Given the description of an element on the screen output the (x, y) to click on. 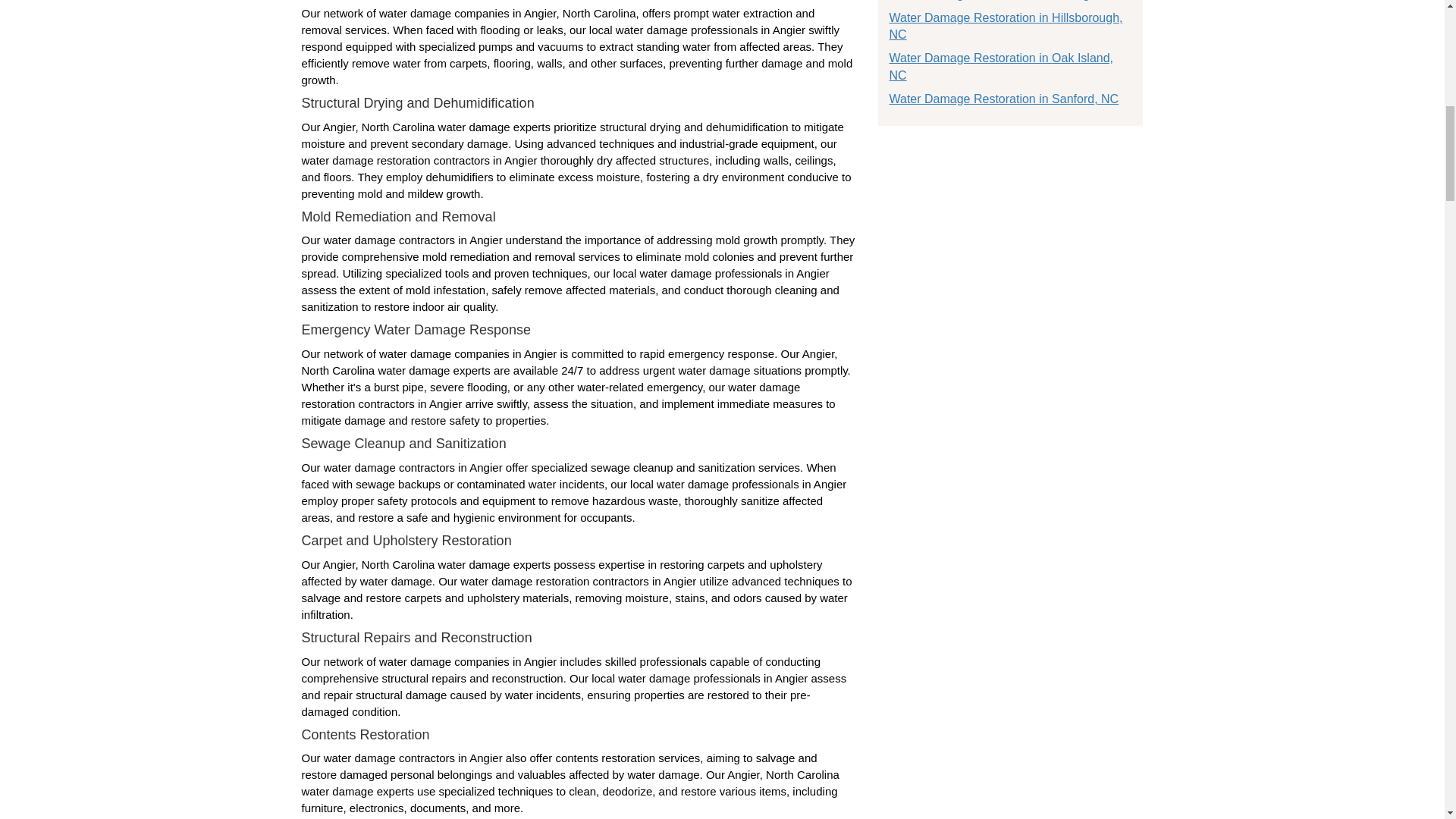
Water Damage Restoration in Oak Island, NC (1000, 66)
Water Damage Restoration in Sanford, NC (1003, 98)
Water Damage Restoration in Hillsborough, NC (1005, 26)
Water Damage Restoration in Oak Island, NC (1000, 66)
Water Damage Restoration in Sanford, NC (1003, 98)
Water Damage Restoration in Hillsborough, NC (1005, 26)
